Given the description of an element on the screen output the (x, y) to click on. 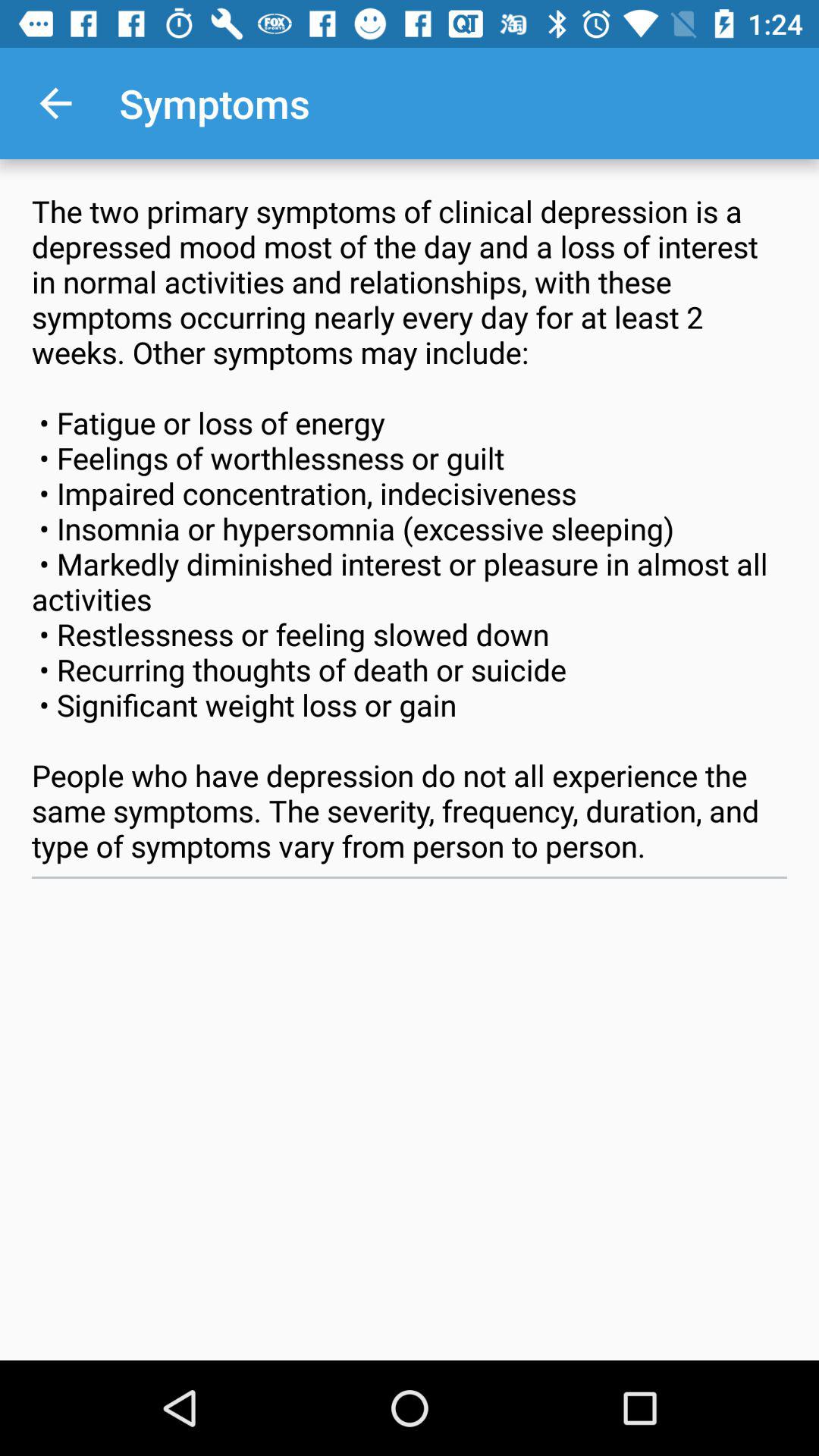
choose the icon above the two primary (55, 103)
